Given the description of an element on the screen output the (x, y) to click on. 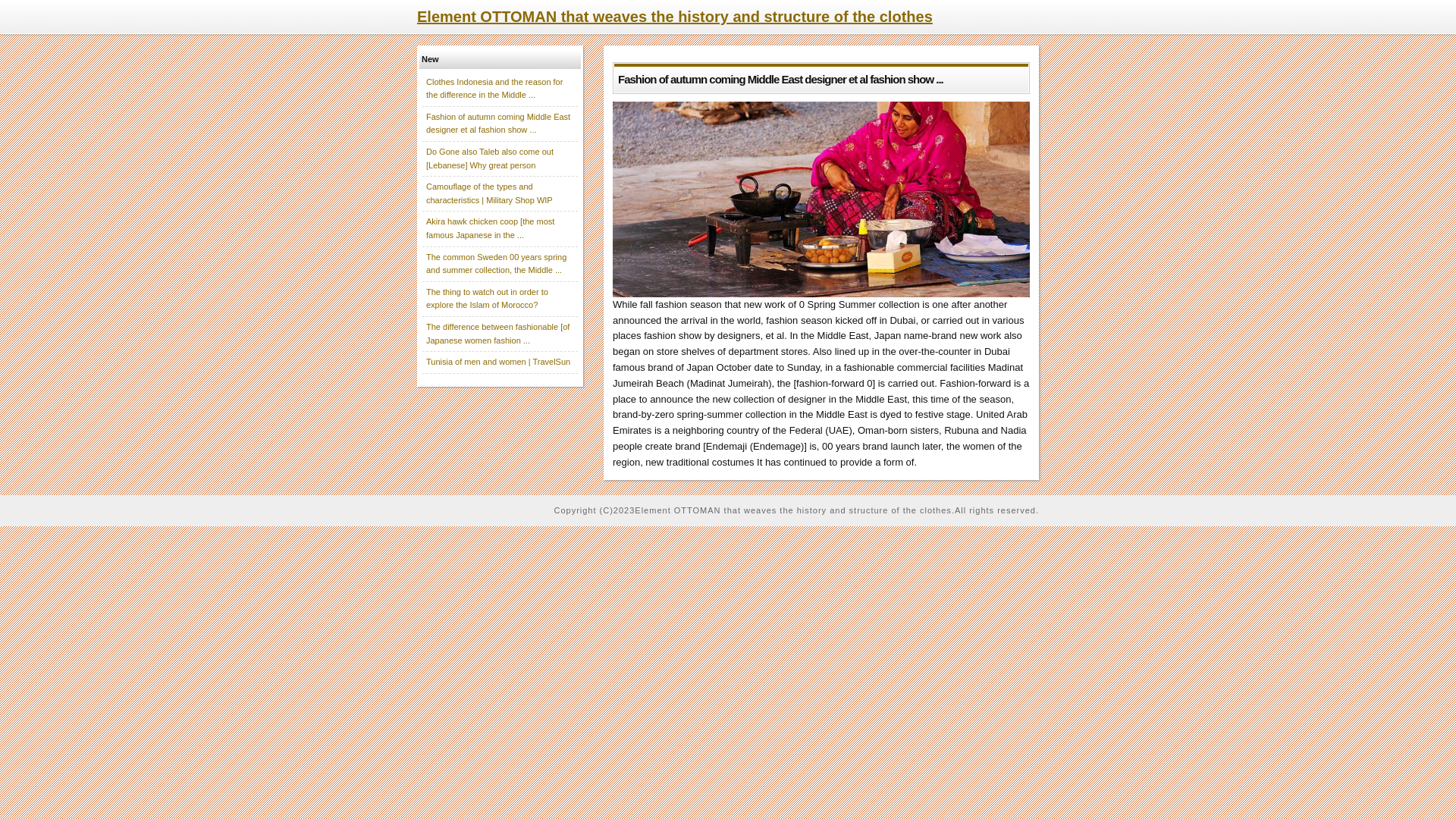
Akira hawk chicken coop [the most famous Japanese in the ... Element type: text (490, 227)
Tunisia of men and women | TravelSun Element type: text (498, 361)
Do Gone also Taleb also come out [Lebanese] Why great person Element type: text (489, 158)
